Given the description of an element on the screen output the (x, y) to click on. 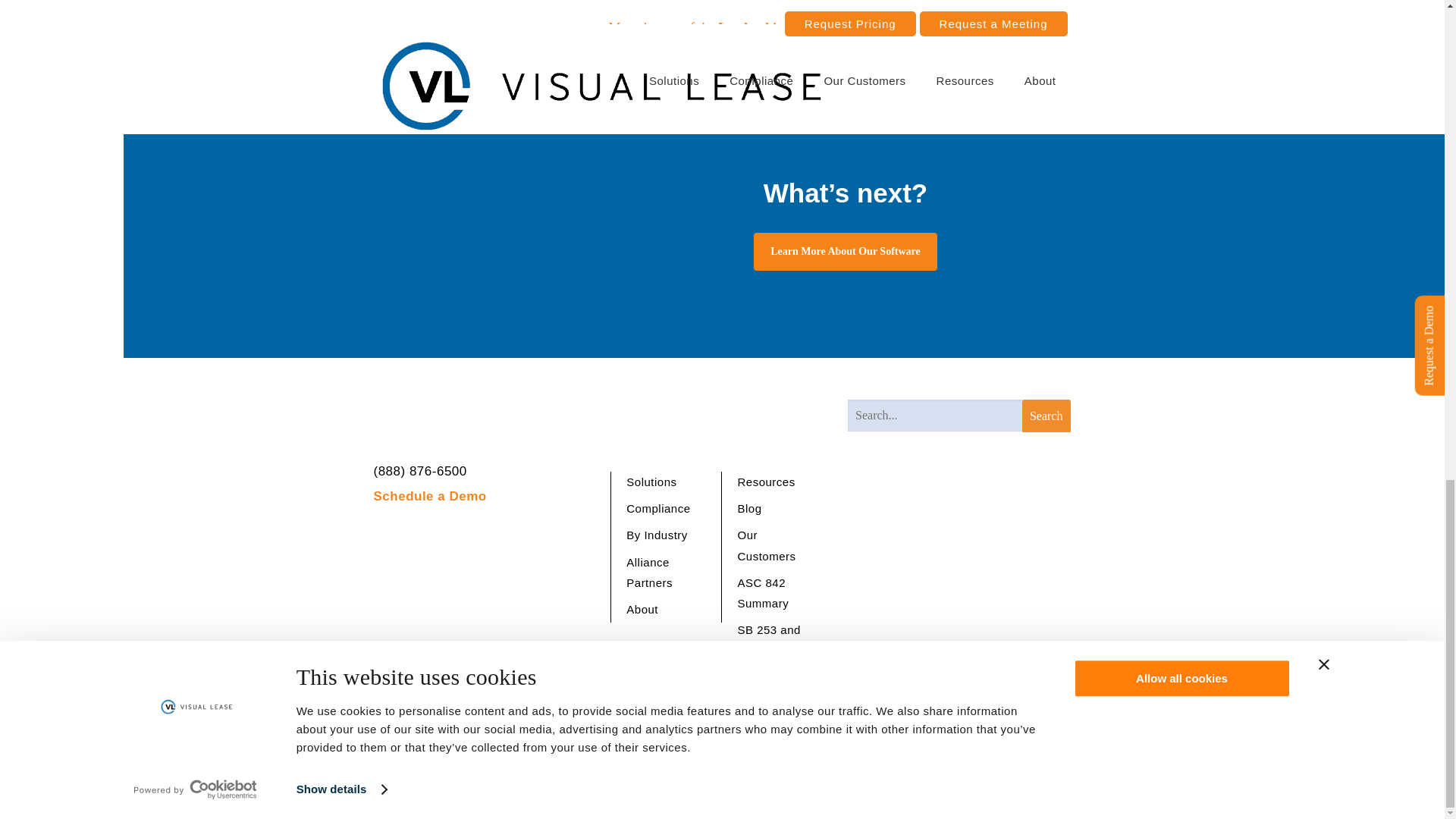
Search (1046, 416)
Search (1046, 416)
